Given the description of an element on the screen output the (x, y) to click on. 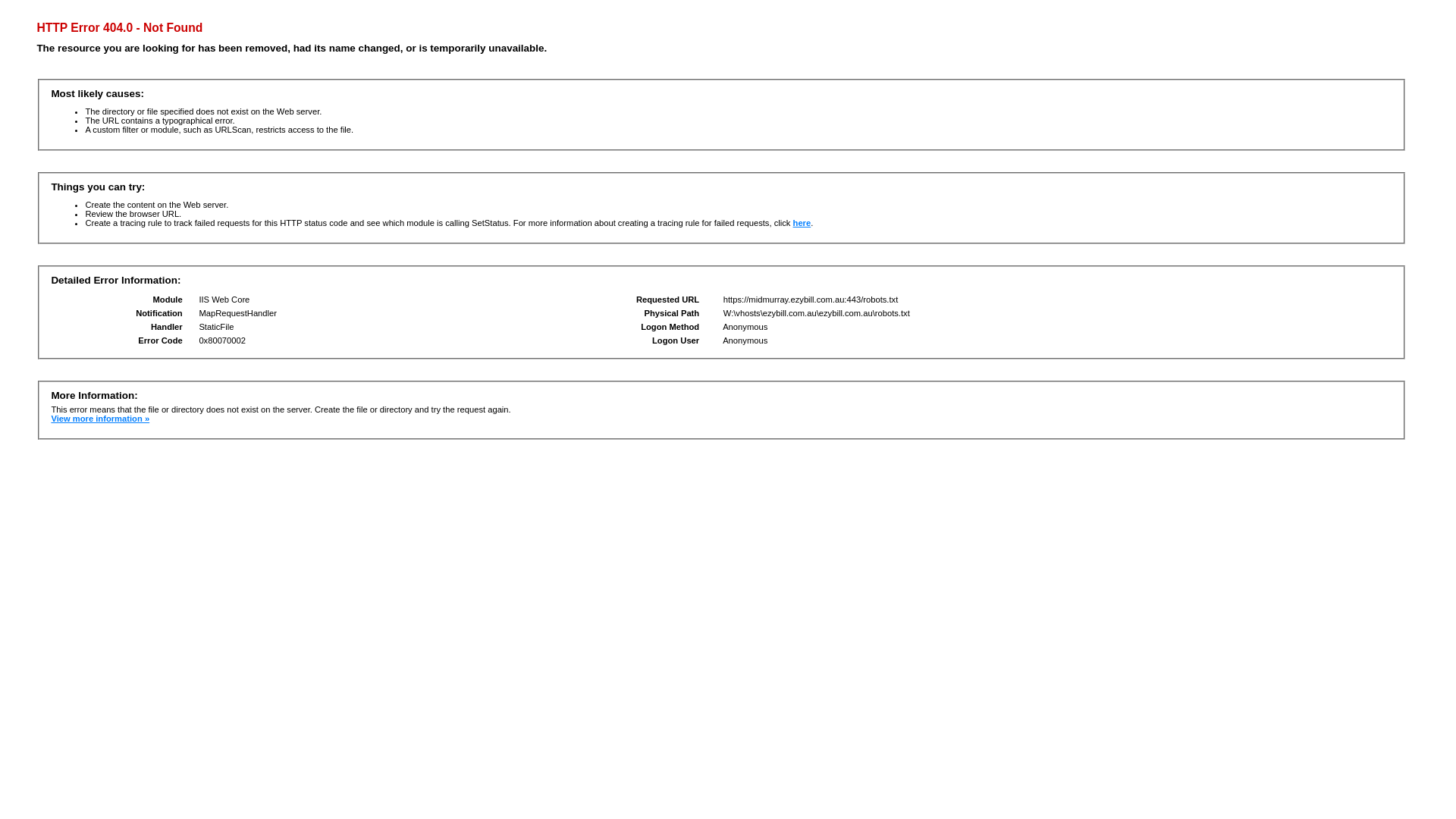
here Element type: text (802, 222)
